Given the description of an element on the screen output the (x, y) to click on. 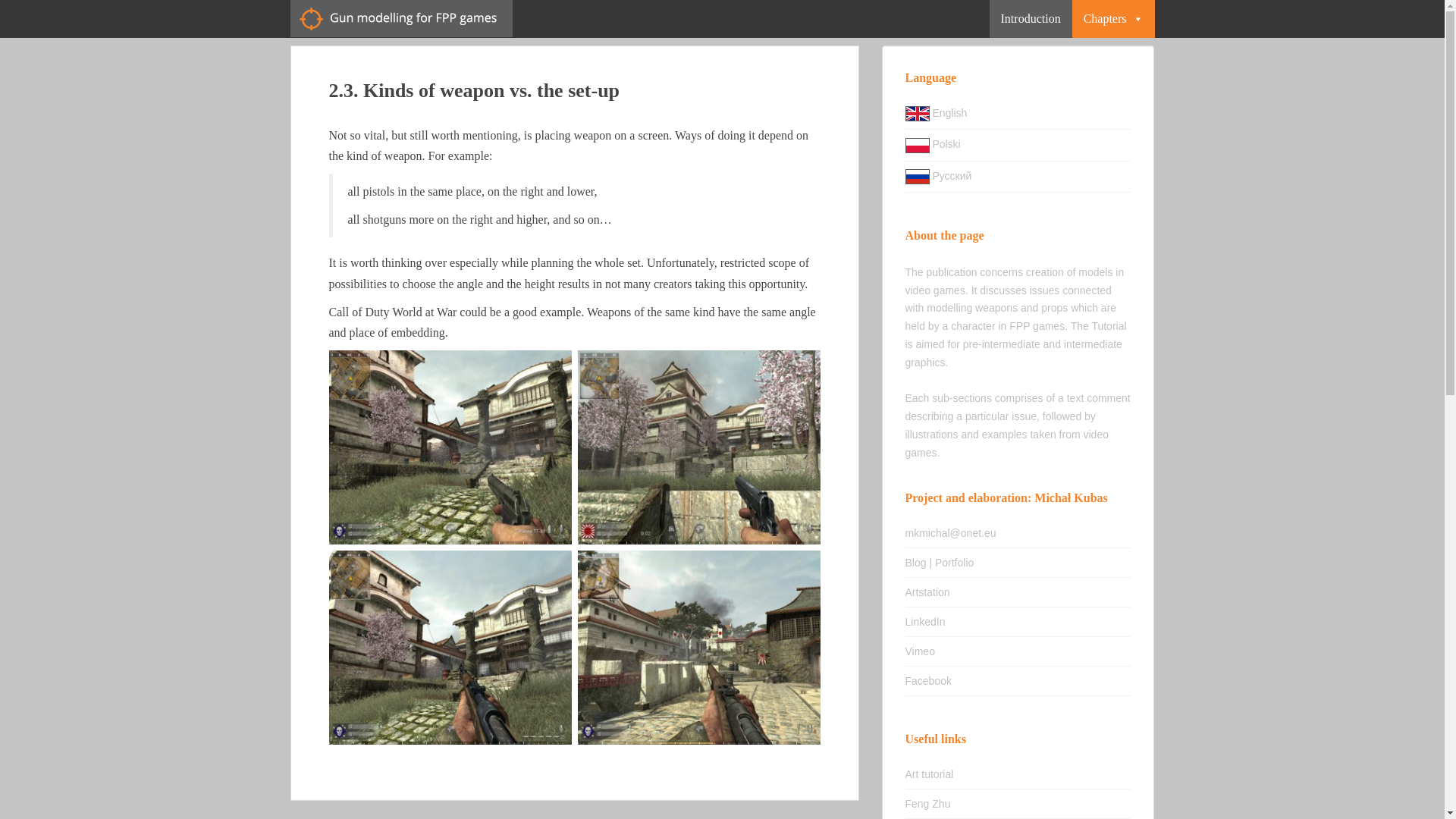
Digital art for begginers (929, 774)
Design tutorials (927, 803)
Translated article on render.ru (917, 176)
Translated article on render.ru (938, 175)
Chapters (1112, 18)
